Given the description of an element on the screen output the (x, y) to click on. 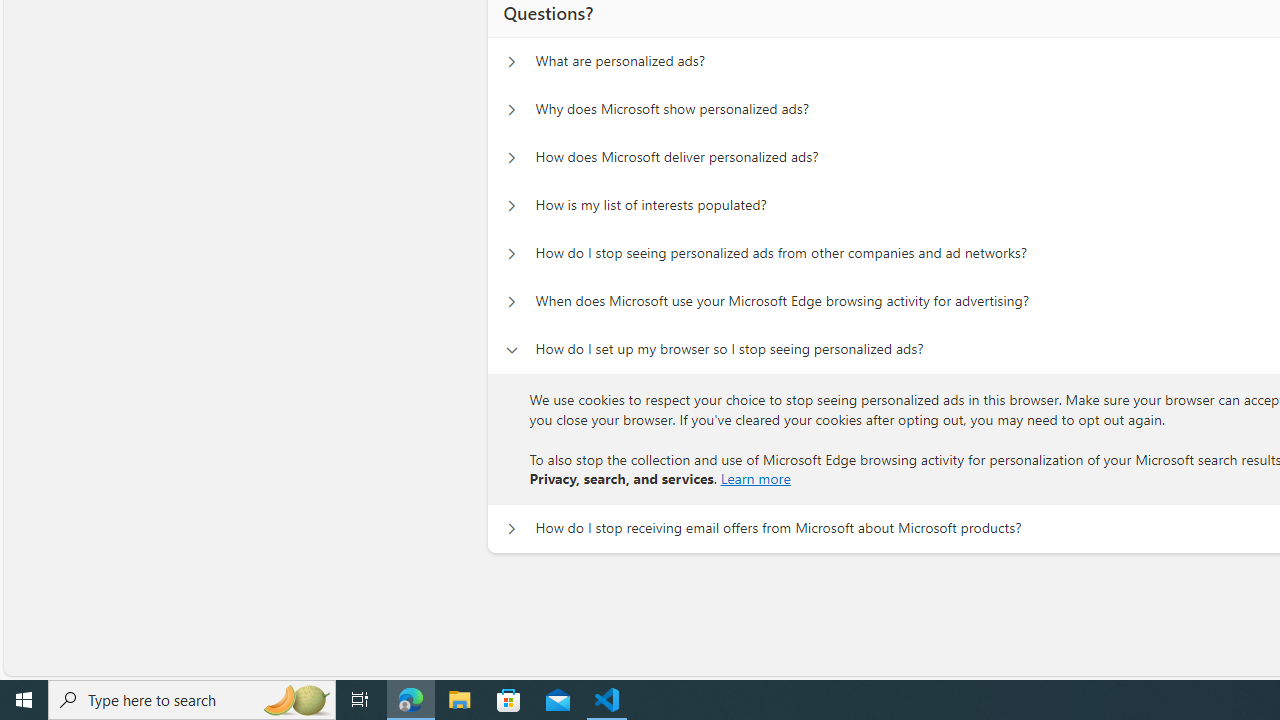
Questions? What are personalized ads? (511, 62)
Questions? Why does Microsoft show personalized ads? (511, 110)
Questions? How is my list of interests populated? (511, 206)
Questions? How does Microsoft deliver personalized ads? (511, 157)
